Given the description of an element on the screen output the (x, y) to click on. 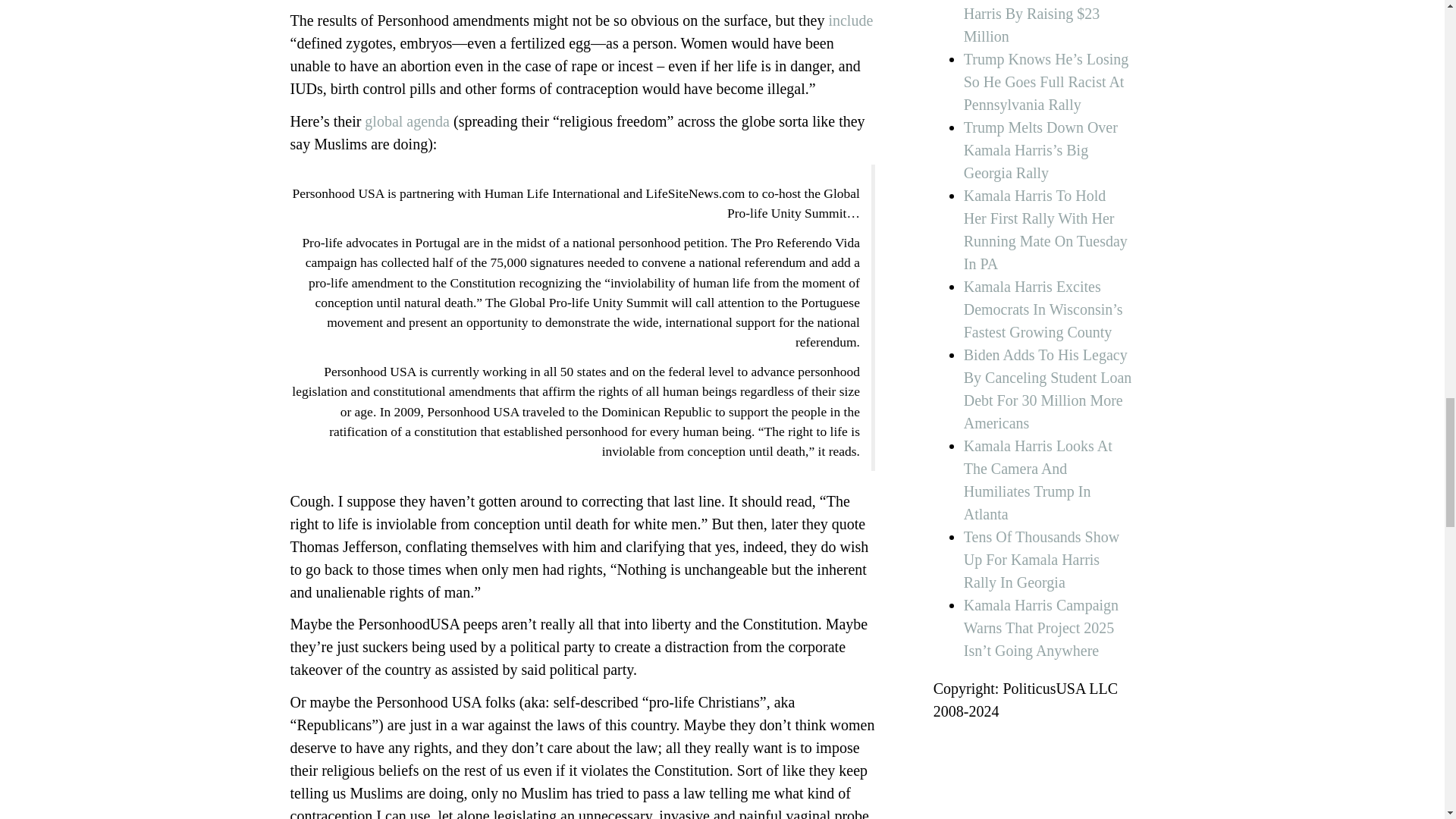
global agenda (407, 121)
include (850, 20)
